Given the description of an element on the screen output the (x, y) to click on. 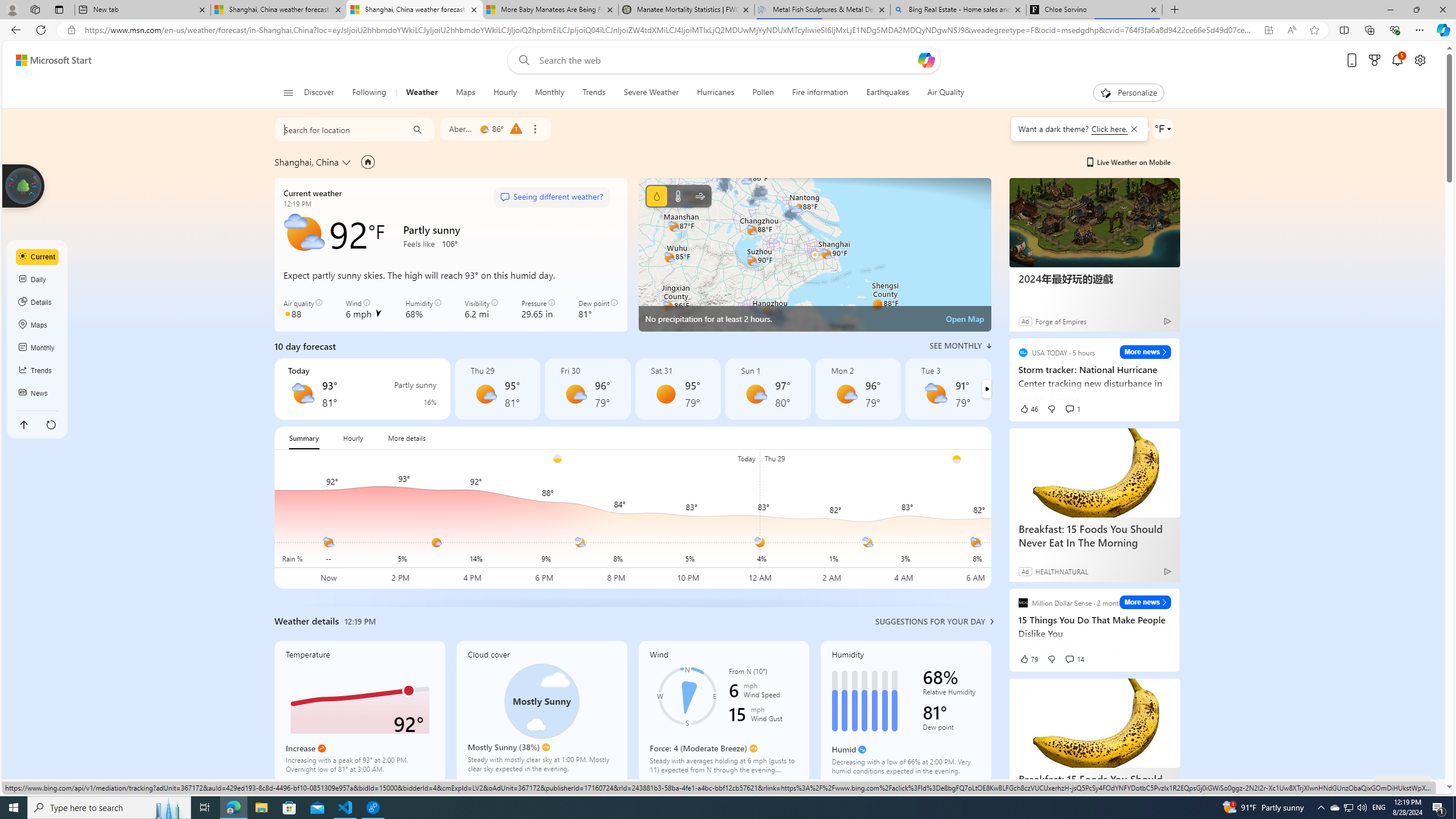
Join us in planting real trees to help our planet! (23, 184)
Skip to content (49, 59)
Hurricanes (715, 92)
Data Providers (1311, 786)
Sunny (665, 393)
Close tab (1153, 9)
Air Quality (940, 92)
Consumer Health Privacy (1080, 786)
Address and search bar (669, 29)
Terms of use (1218, 785)
Monthly (549, 92)
